Given the description of an element on the screen output the (x, y) to click on. 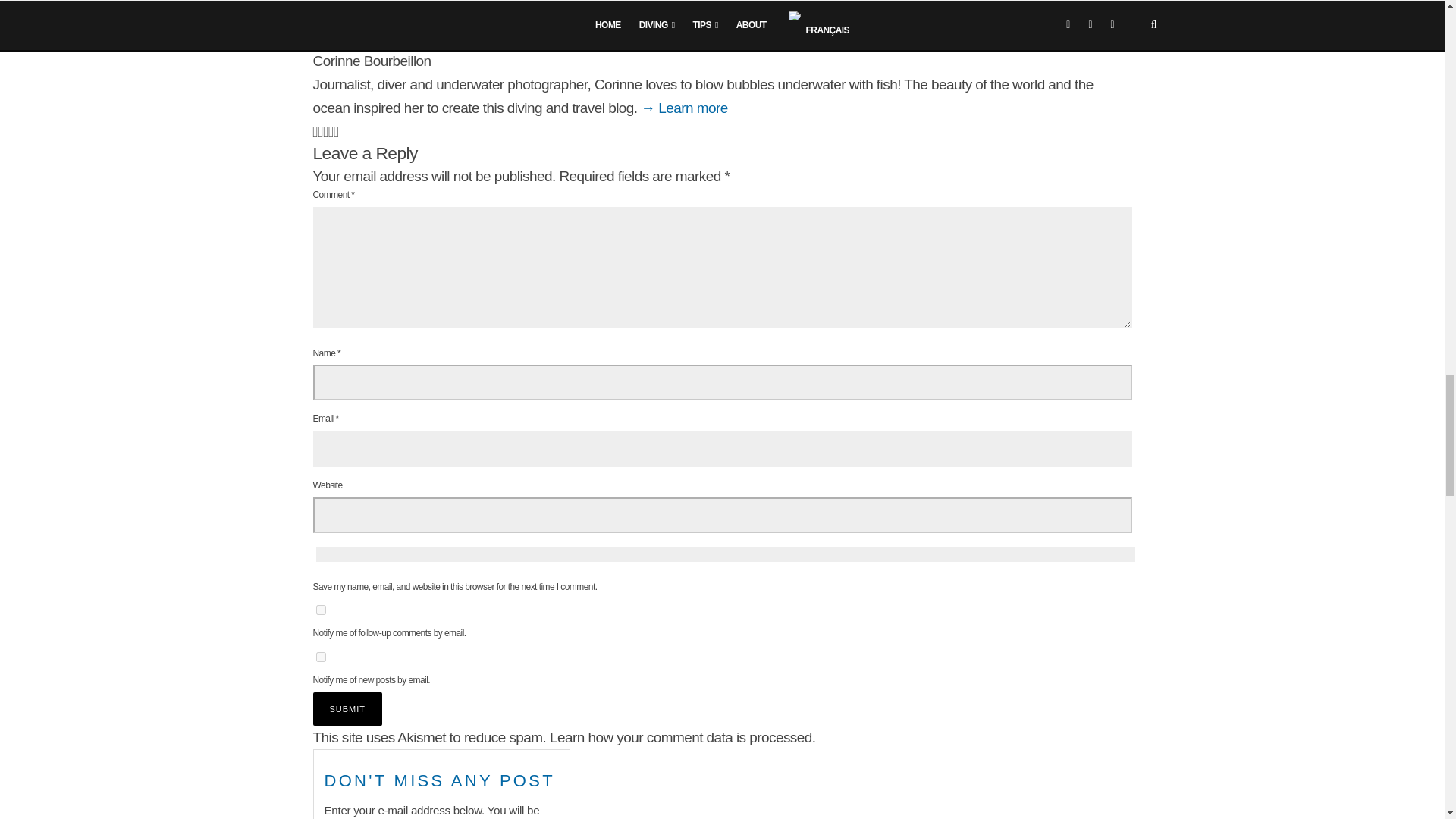
yes (724, 554)
Submit (347, 708)
subscribe (319, 610)
subscribe (319, 656)
